Given the description of an element on the screen output the (x, y) to click on. 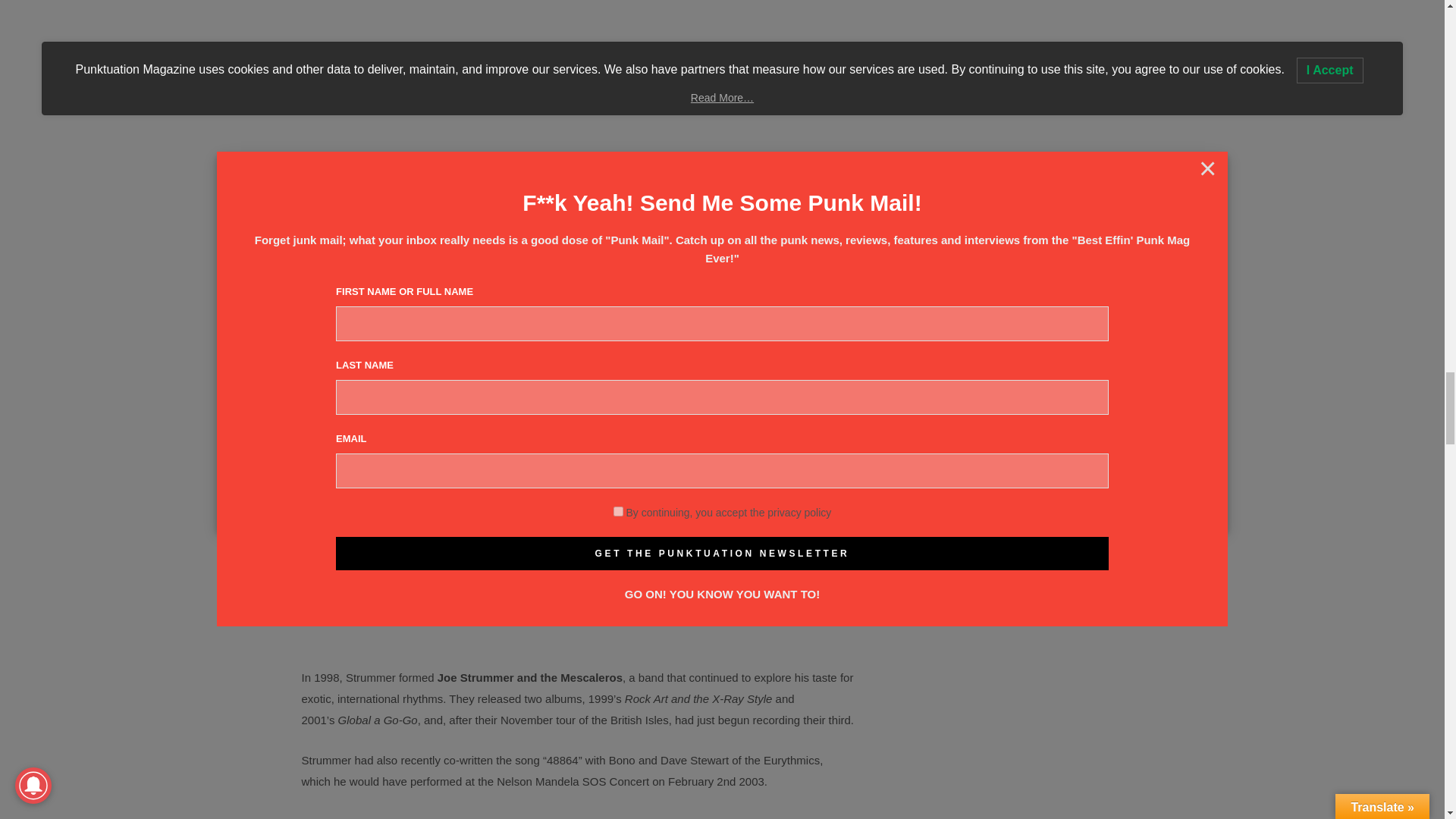
The Pogues and Joe Strummer - London Calling (578, 815)
